Given the description of an element on the screen output the (x, y) to click on. 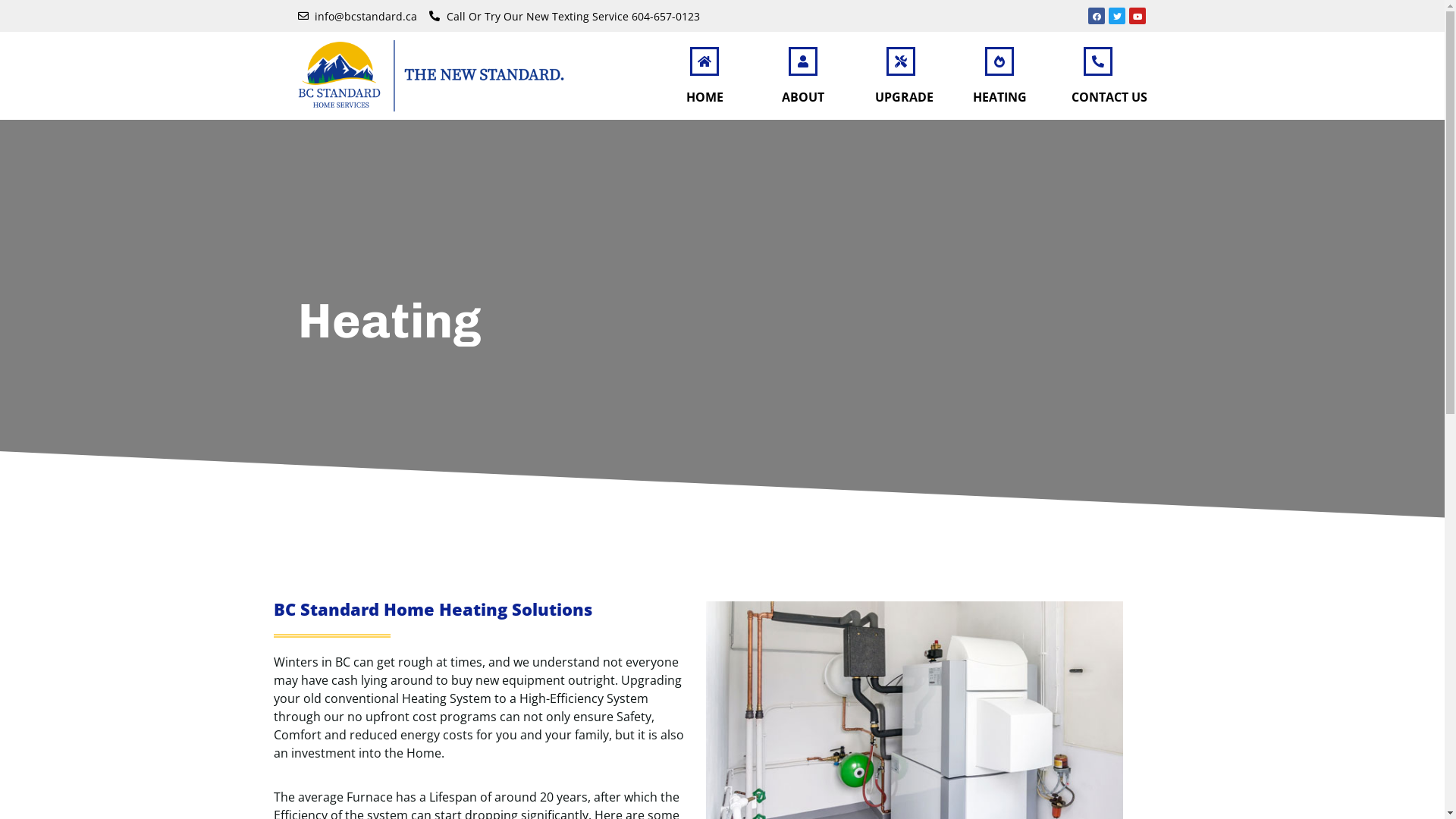
HEATING Element type: text (999, 96)
CONTACT US Element type: text (1109, 96)
UPGRADE Element type: text (903, 96)
ABOUT Element type: text (802, 96)
HOME Element type: text (704, 96)
